Given the description of an element on the screen output the (x, y) to click on. 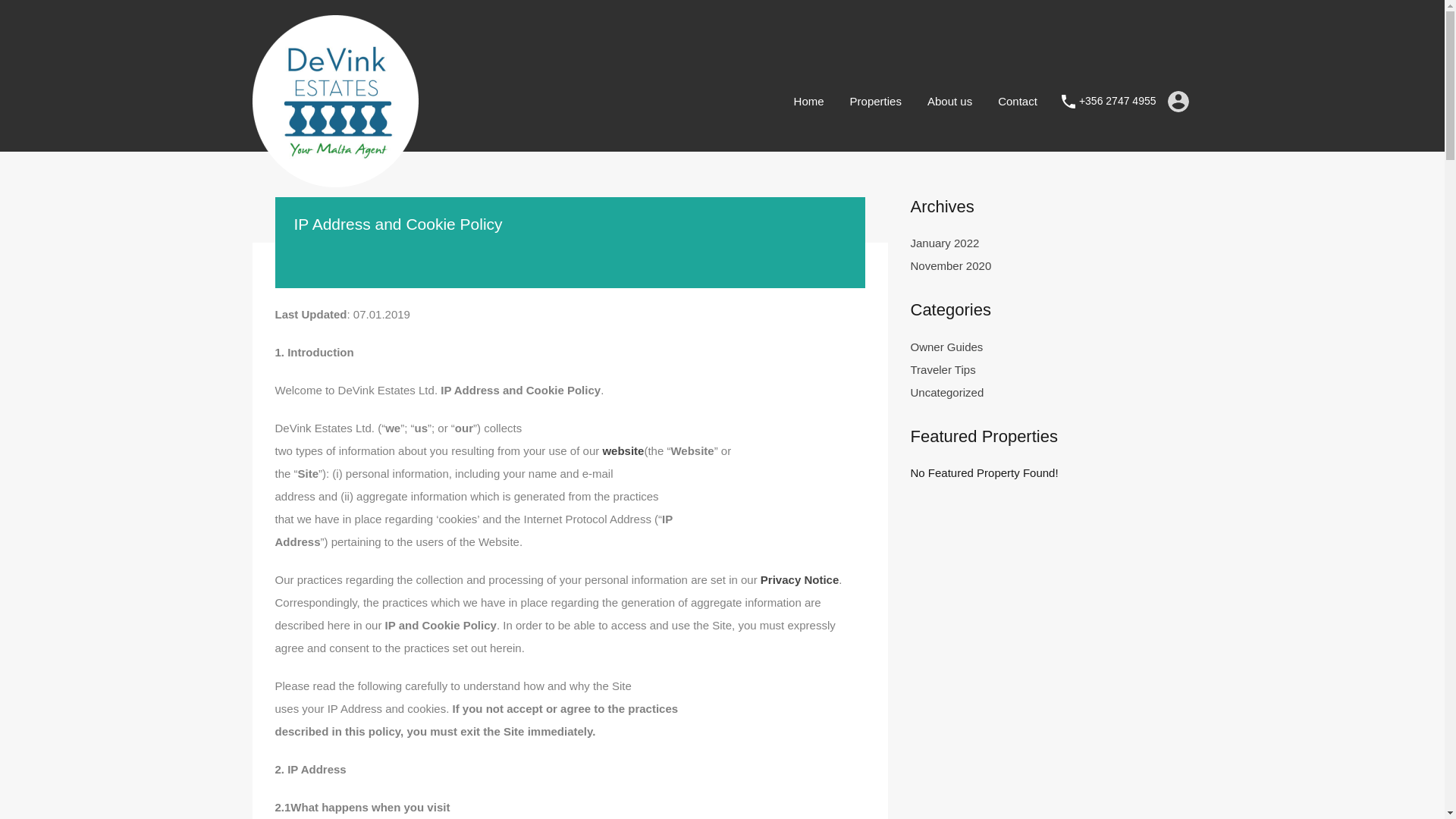
Privacy Notice (799, 579)
Owner Guides (946, 346)
About us (949, 100)
Properties (875, 100)
January 2022 (944, 242)
website (622, 450)
Contact (1017, 100)
Uncategorized (947, 392)
Home (808, 100)
November 2020 (950, 265)
Traveler Tips (942, 369)
